Given the description of an element on the screen output the (x, y) to click on. 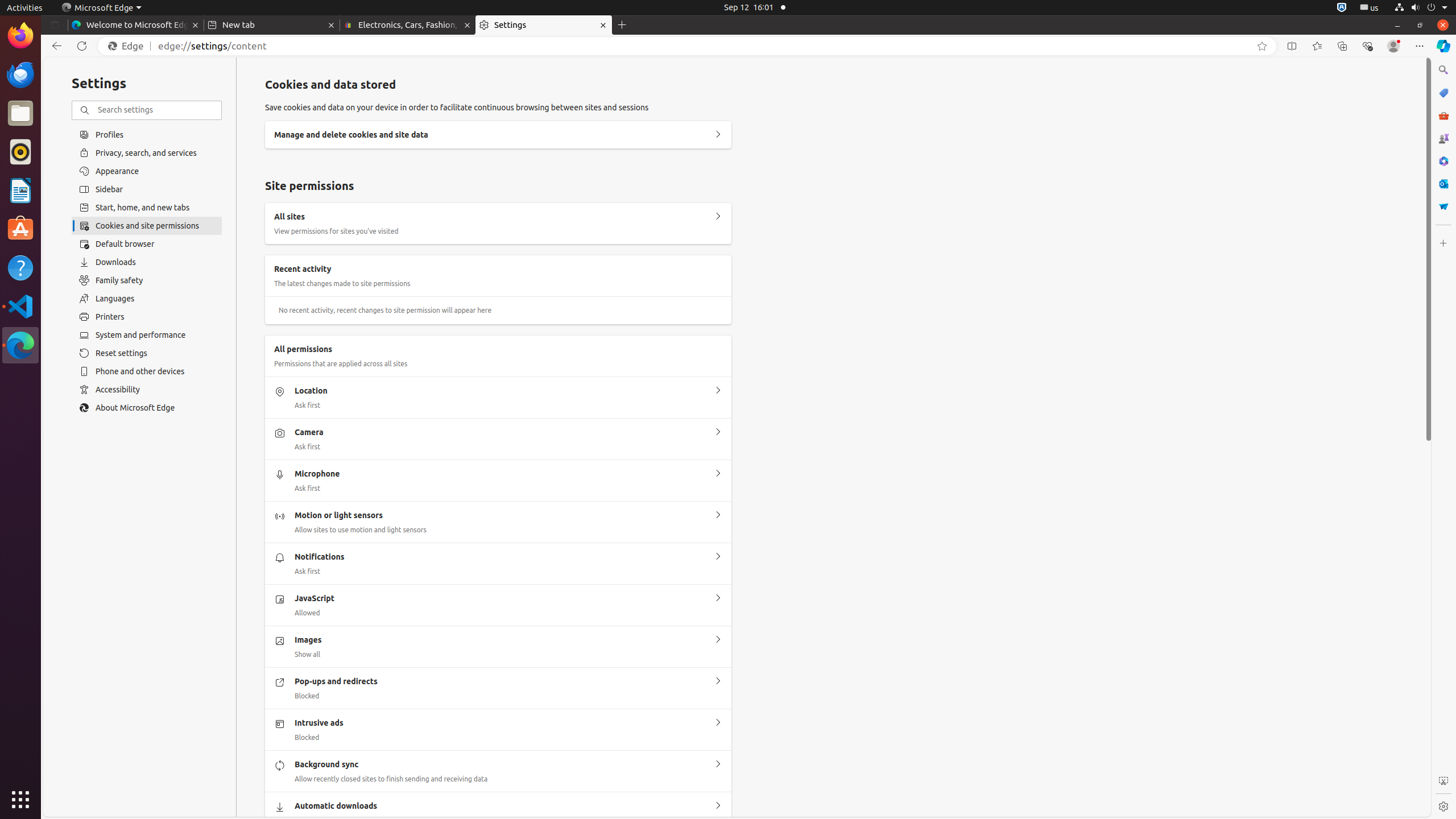
Show Applications Element type: toggle-button (20, 799)
Firefox Web Browser Element type: push-button (20, 35)
Back Element type: push-button (54, 45)
Family safety Element type: tree-item (146, 280)
JavaScript Element type: push-button (717, 598)
